Given the description of an element on the screen output the (x, y) to click on. 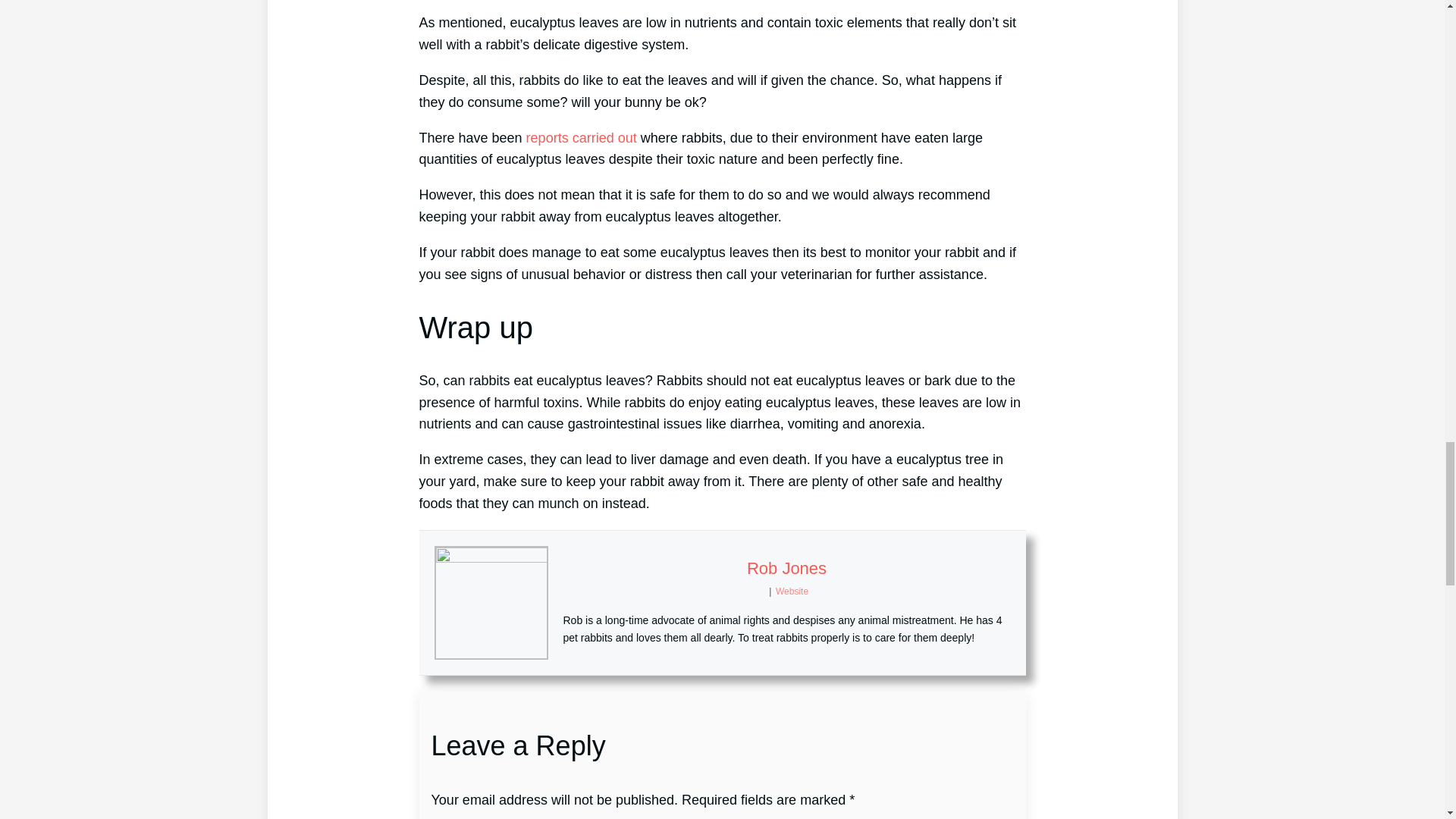
Rob Jones (786, 568)
Website (792, 591)
reports carried out (581, 137)
